Given the description of an element on the screen output the (x, y) to click on. 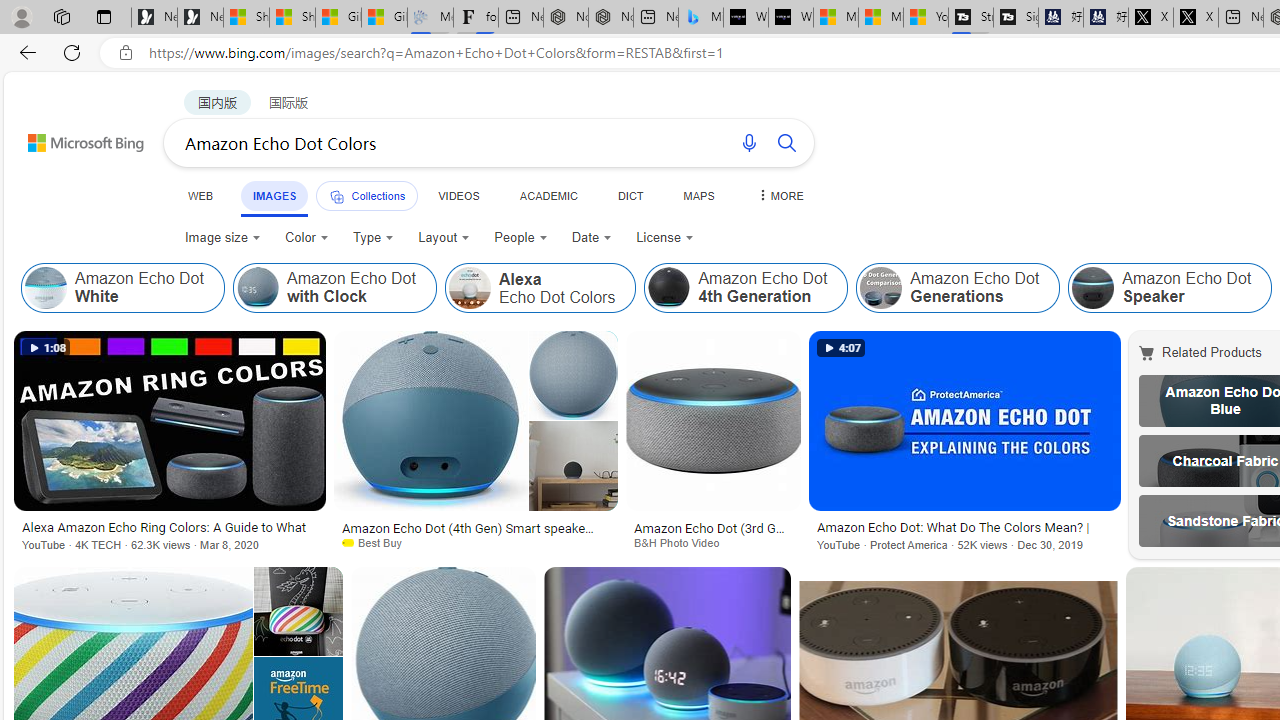
4:07 (841, 348)
MORE (779, 195)
Class: item col (1170, 287)
Alexa Amazon Echo Ring Colors: A Guide to What they Mean (169, 529)
Image result for Amazon Echo Dot Colors (964, 421)
Image size (221, 237)
Amazon Echo Dot with Clock (334, 287)
Dropdown Menu (779, 195)
